Given the description of an element on the screen output the (x, y) to click on. 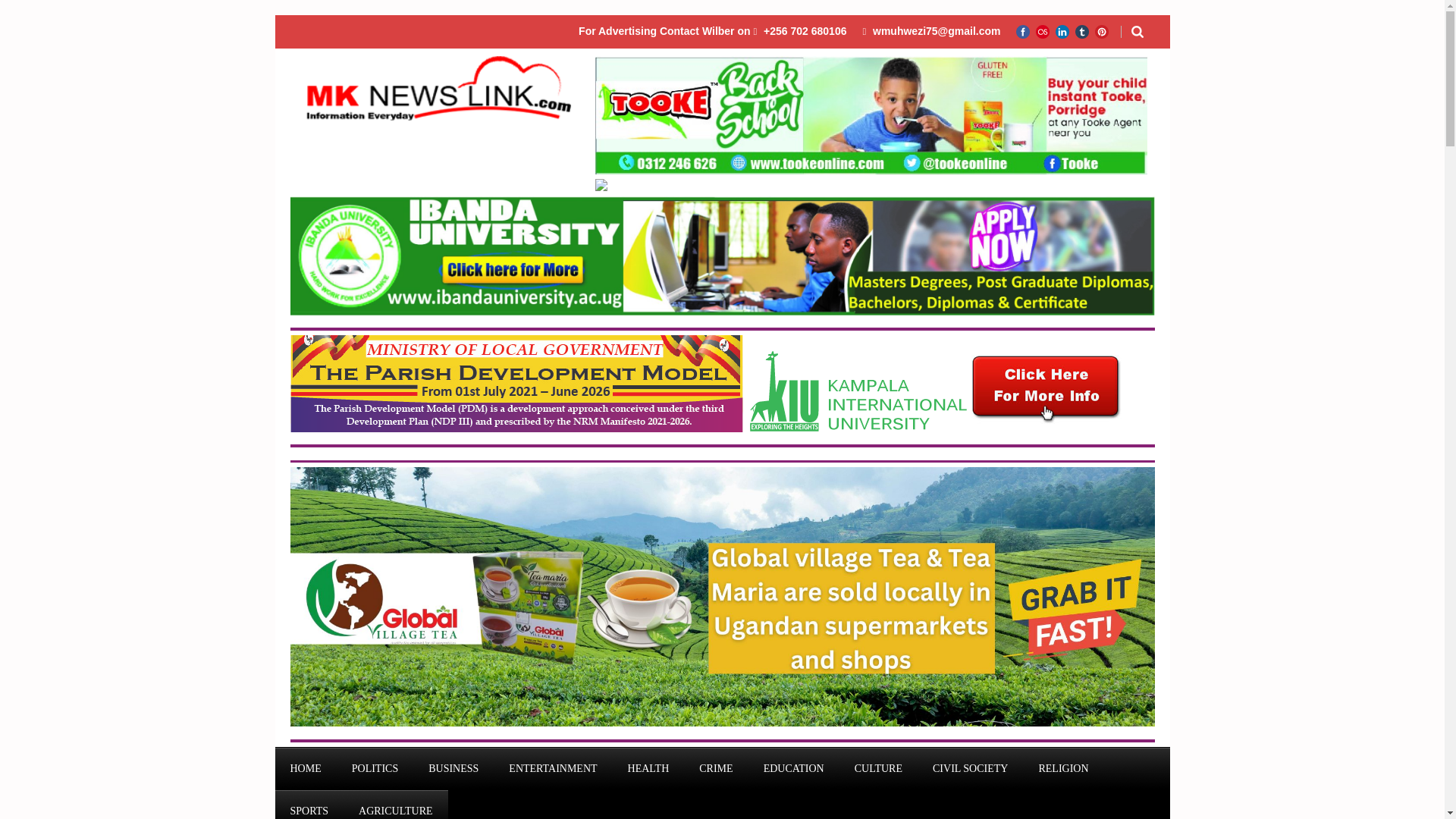
HOME (305, 768)
SPORTS (309, 804)
AGRICULTURE (395, 804)
BUSINESS (453, 768)
CRIME (716, 768)
EDUCATION (794, 768)
POLITICS (374, 768)
ENTERTAINMENT (552, 768)
CULTURE (878, 768)
CIVIL SOCIETY (970, 768)
